Given the description of an element on the screen output the (x, y) to click on. 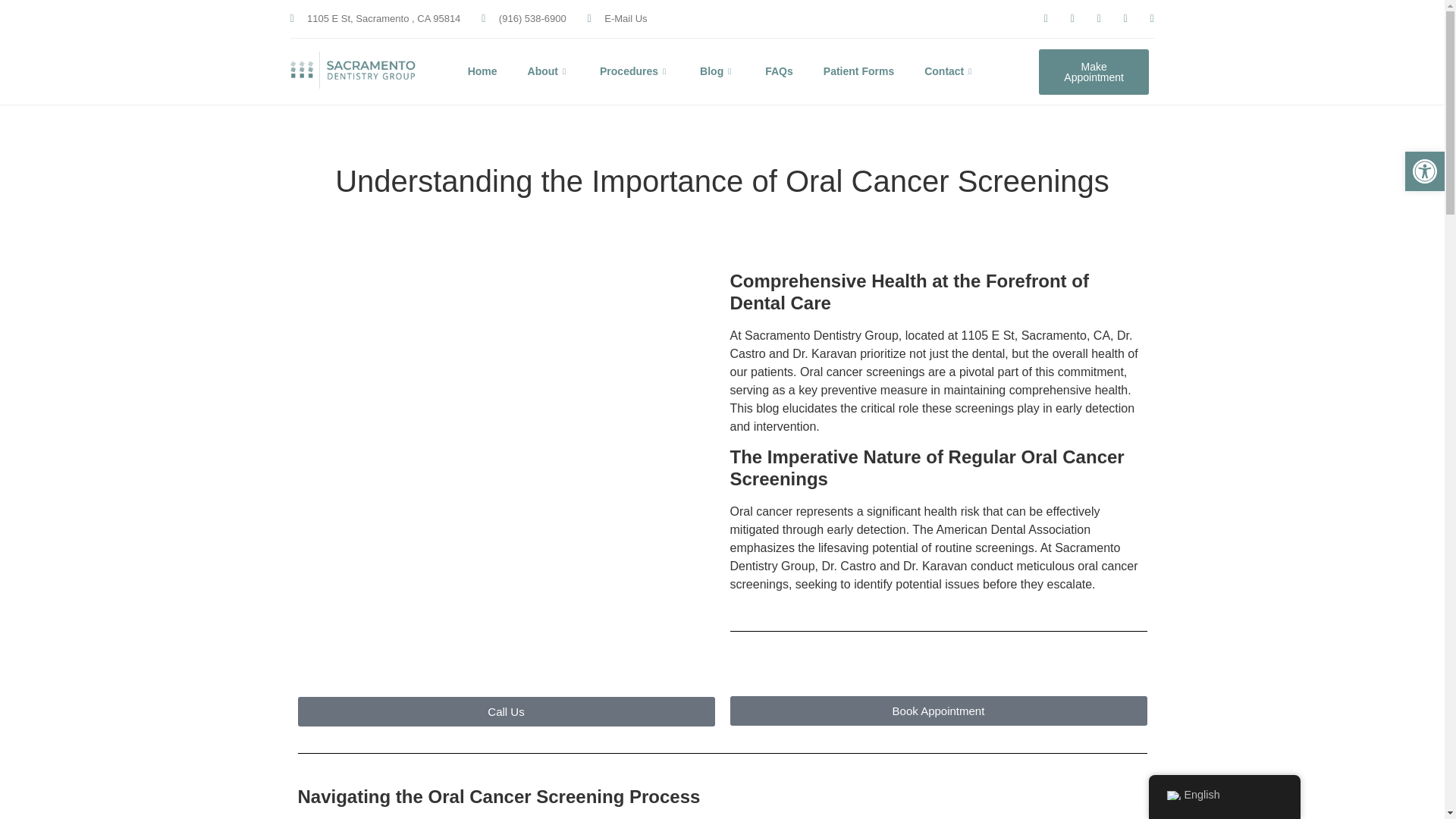
About (563, 71)
Procedures (649, 71)
E-Mail Us (617, 18)
Home (497, 71)
1105 E St, Sacramento , CA 95814 (374, 18)
